Given the description of an element on the screen output the (x, y) to click on. 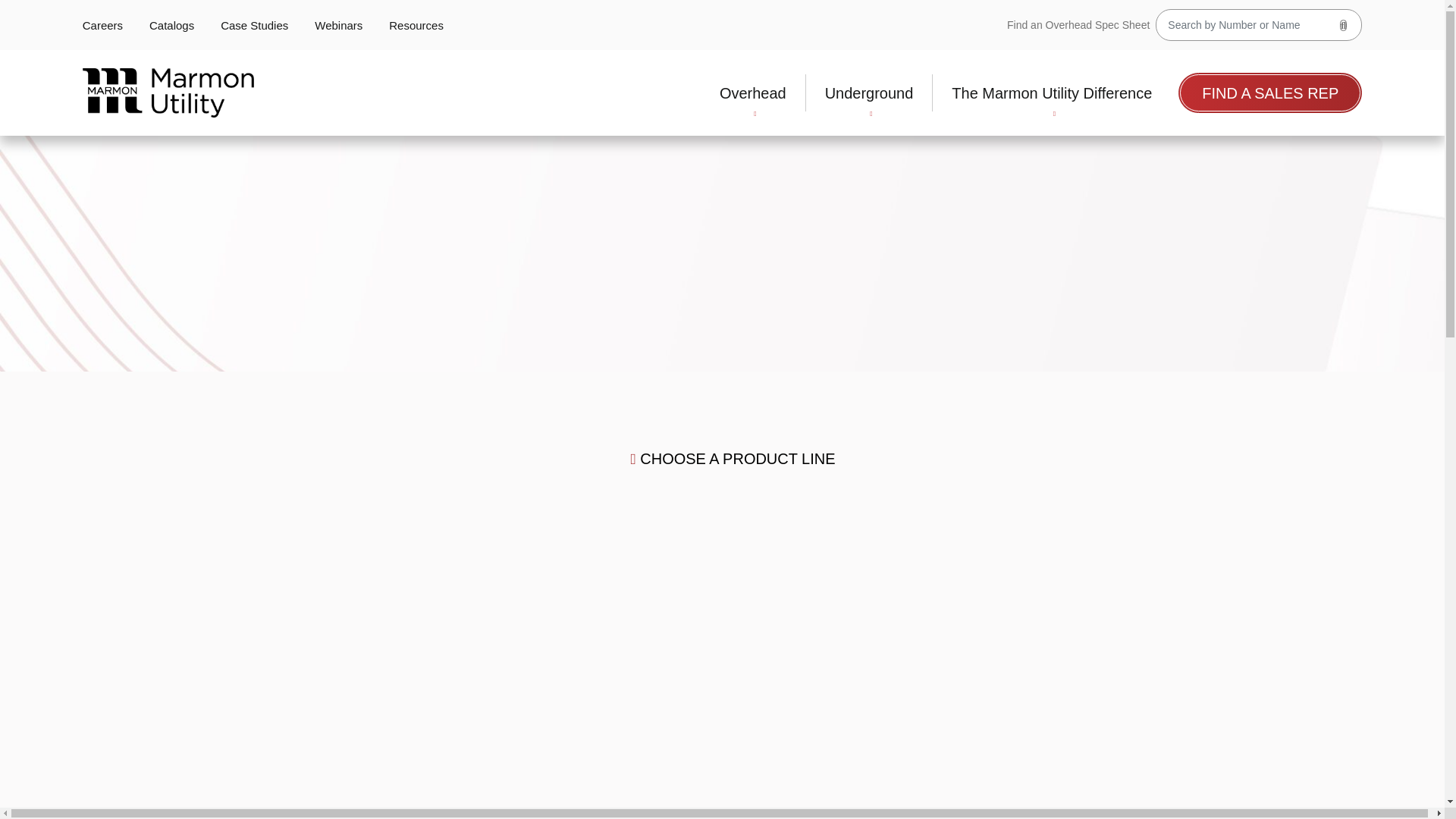
Catalogs (171, 25)
Webinars (338, 25)
Webinars (338, 25)
The Marmon Utility Difference (1051, 93)
Catalogs (171, 25)
Careers (102, 25)
Resources (416, 25)
Case Studies (254, 25)
Overhead (752, 93)
Underground (869, 93)
Case Studies (254, 25)
Back to home (167, 92)
Careers (102, 25)
Resources (416, 25)
